Given the description of an element on the screen output the (x, y) to click on. 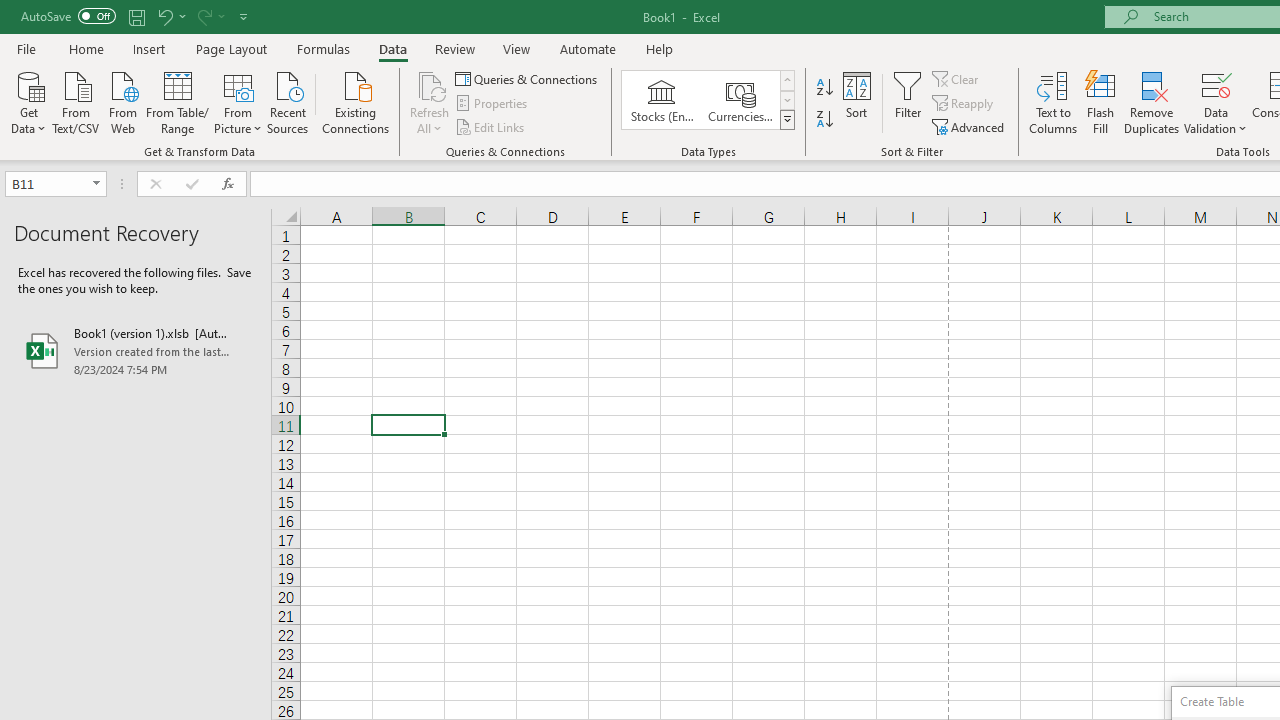
Reapply (964, 103)
Data Validation... (1215, 84)
Book1 (version 1).xlsb  [AutoRecovered] (136, 350)
AutomationID: ConvertToLinkedEntity (708, 99)
Existing Connections (355, 101)
Currencies (English) (740, 100)
Row Down (786, 100)
Sort A to Z (824, 87)
